Given the description of an element on the screen output the (x, y) to click on. 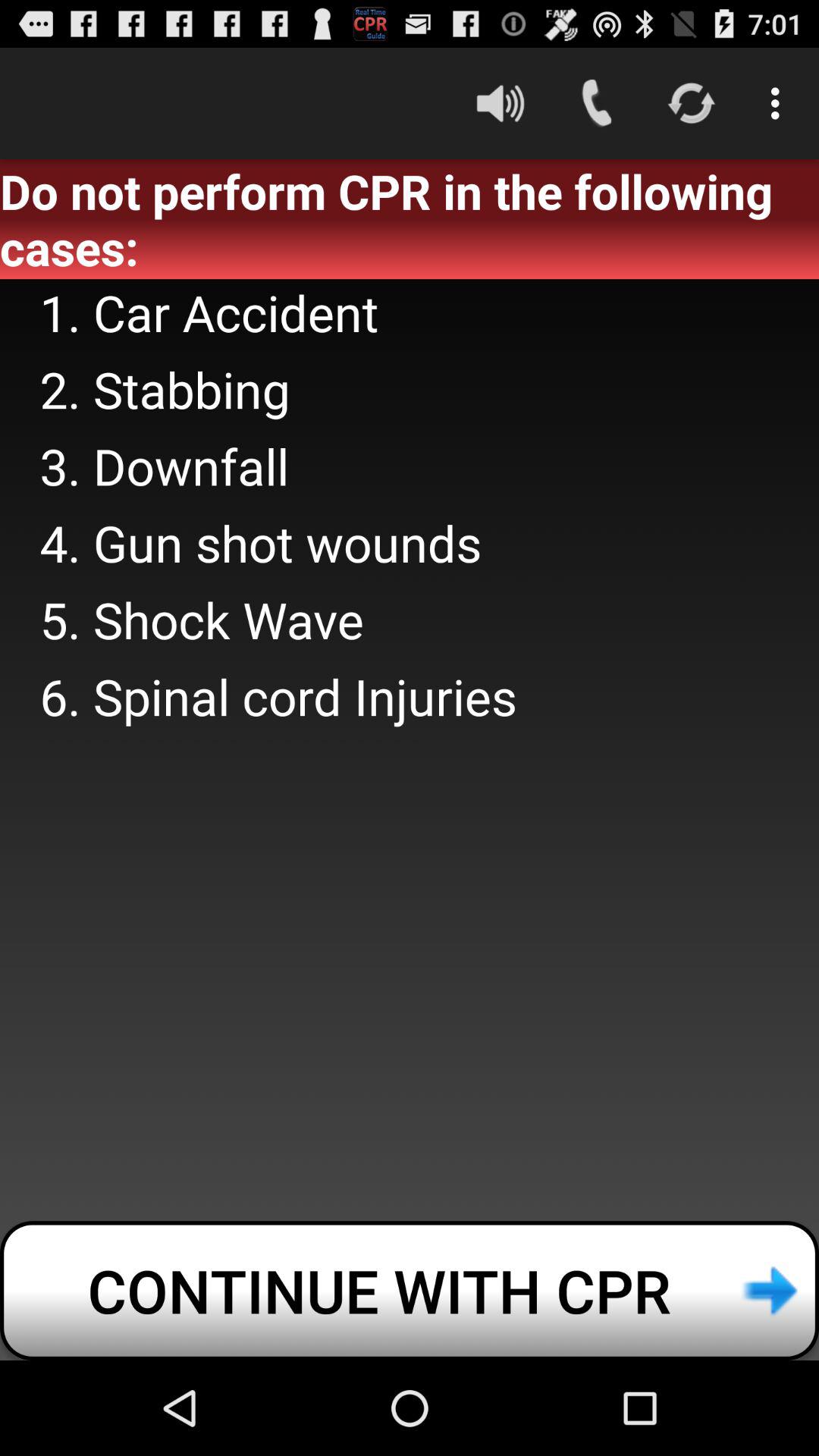
tap icon above the do not perform (779, 103)
